Given the description of an element on the screen output the (x, y) to click on. 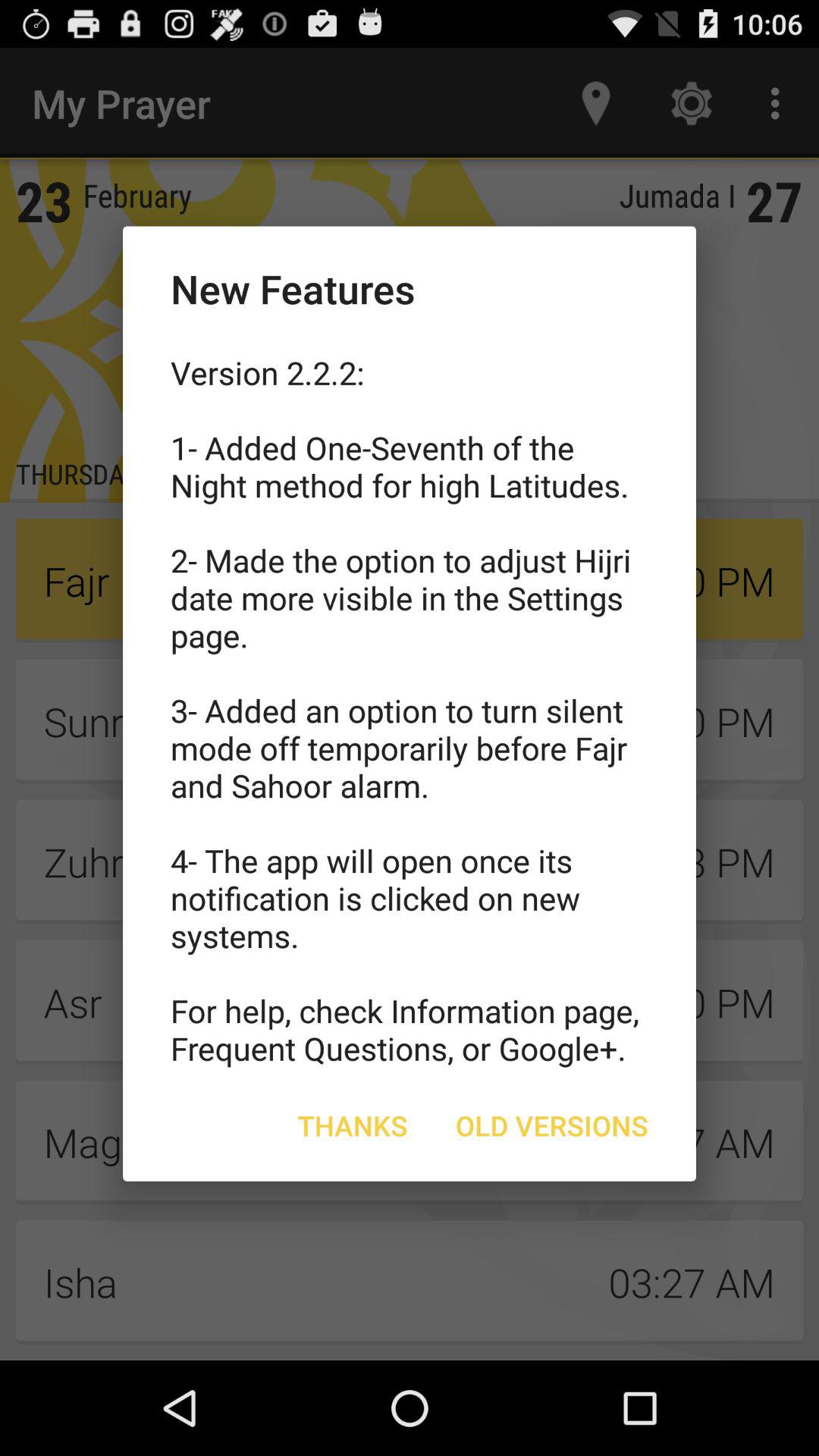
choose the icon next to the old versions button (352, 1125)
